Given the description of an element on the screen output the (x, y) to click on. 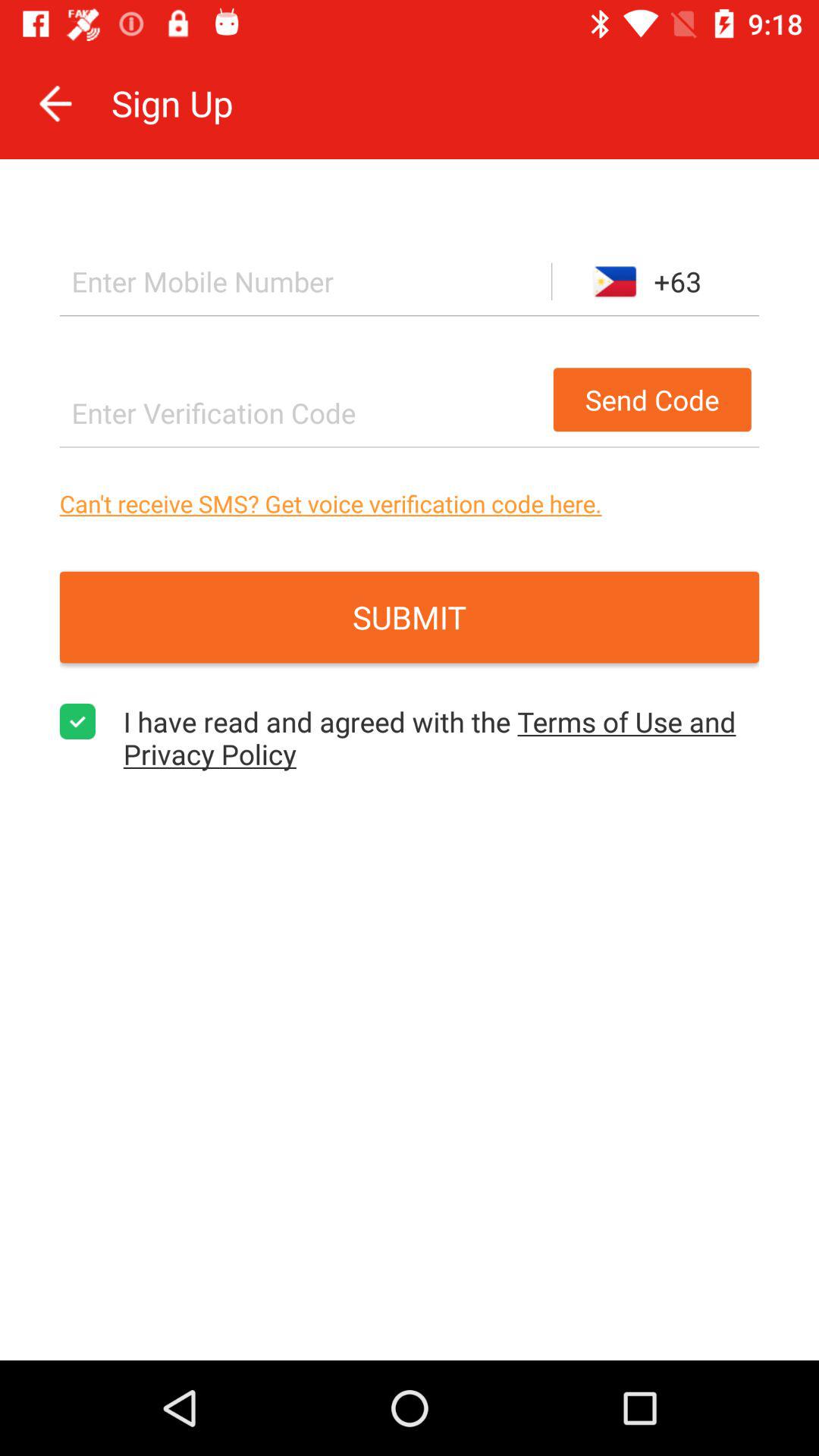
choose icon to the left of the sign up (55, 103)
